Given the description of an element on the screen output the (x, y) to click on. 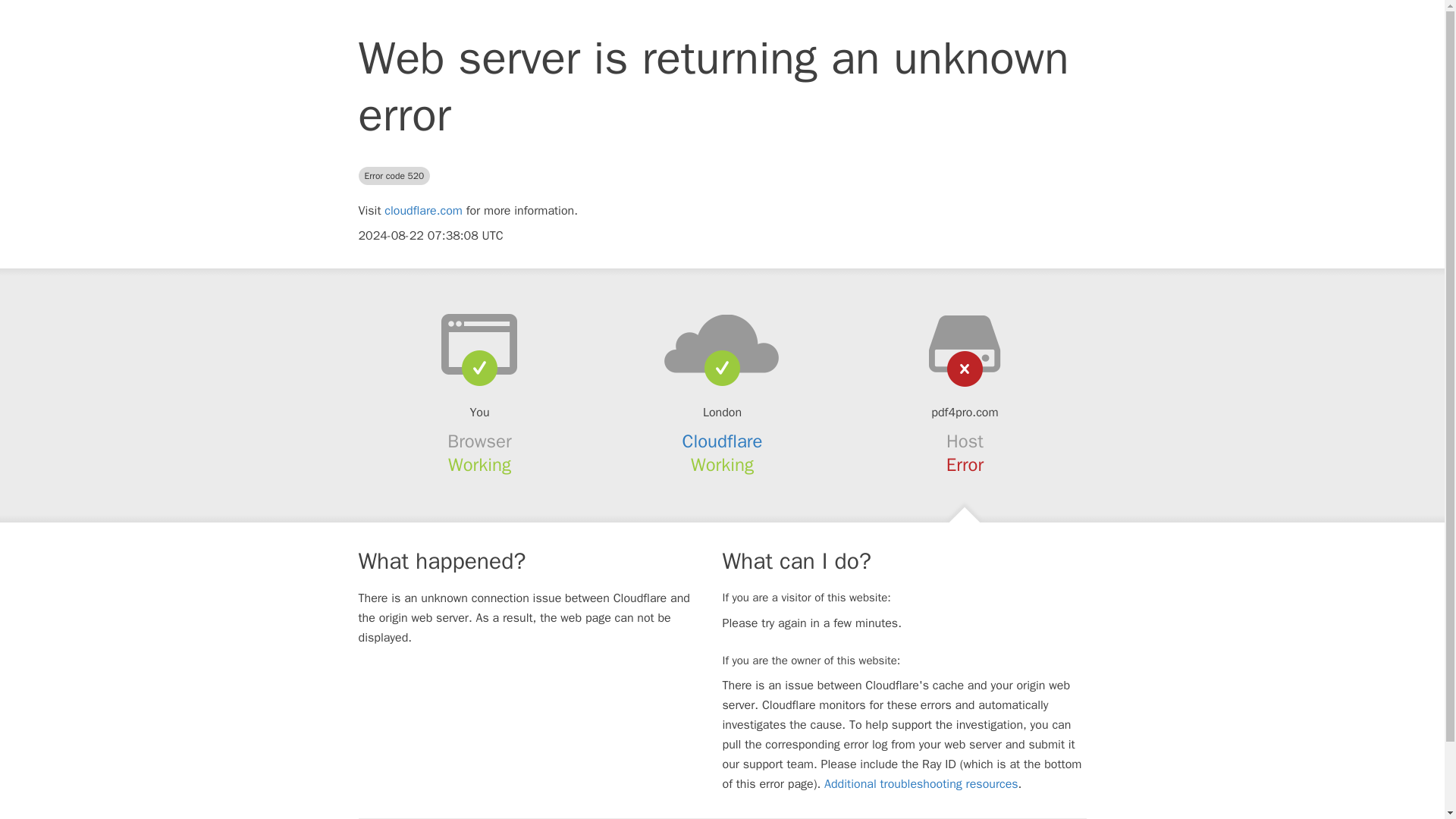
Additional troubleshooting resources (920, 783)
Cloudflare (722, 440)
cloudflare.com (423, 210)
